Given the description of an element on the screen output the (x, y) to click on. 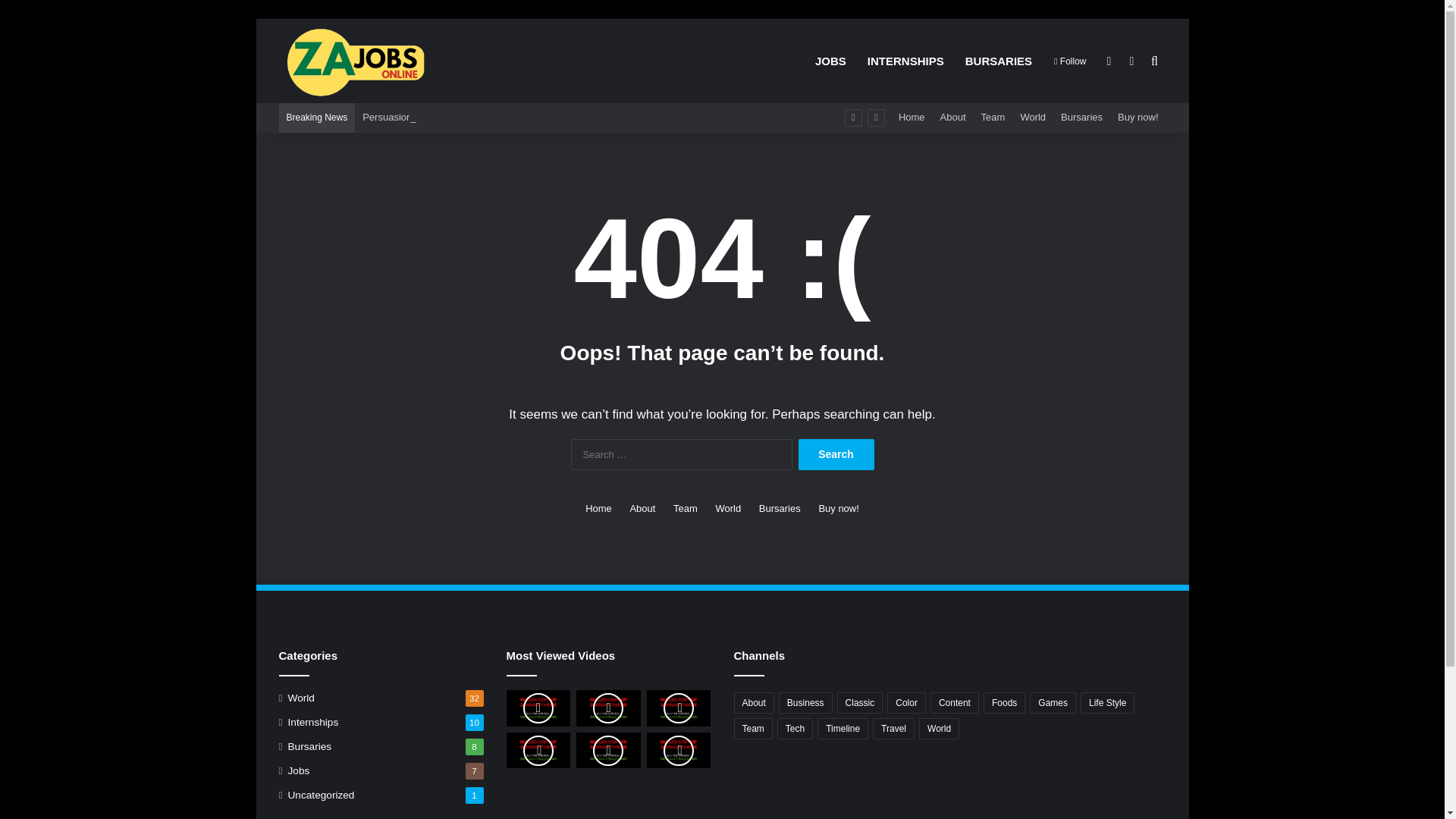
World (727, 508)
Search (835, 454)
Bursaries (309, 746)
Bursaries (779, 508)
Buy now! (1137, 117)
Persuasion is often more effectual than force (459, 116)
ZaJobs Online (354, 61)
Buy now! (1137, 117)
World (301, 697)
Jobs (299, 770)
